Given the description of an element on the screen output the (x, y) to click on. 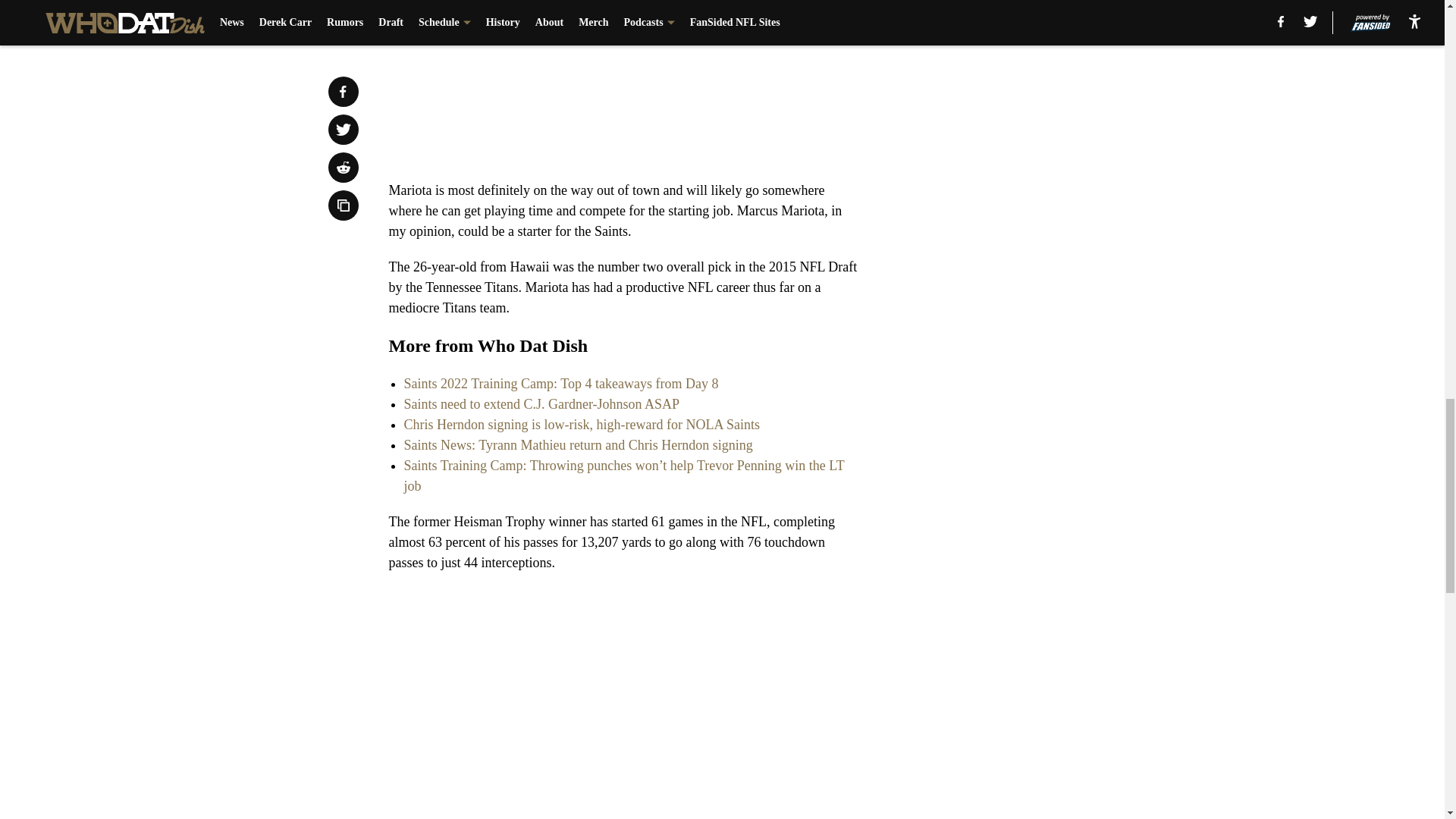
Saints 2022 Training Camp: Top 4 takeaways from Day 8 (560, 383)
Saints News: Tyrann Mathieu return and Chris Herndon signing (577, 444)
Saints need to extend C.J. Gardner-Johnson ASAP (541, 403)
